Given the description of an element on the screen output the (x, y) to click on. 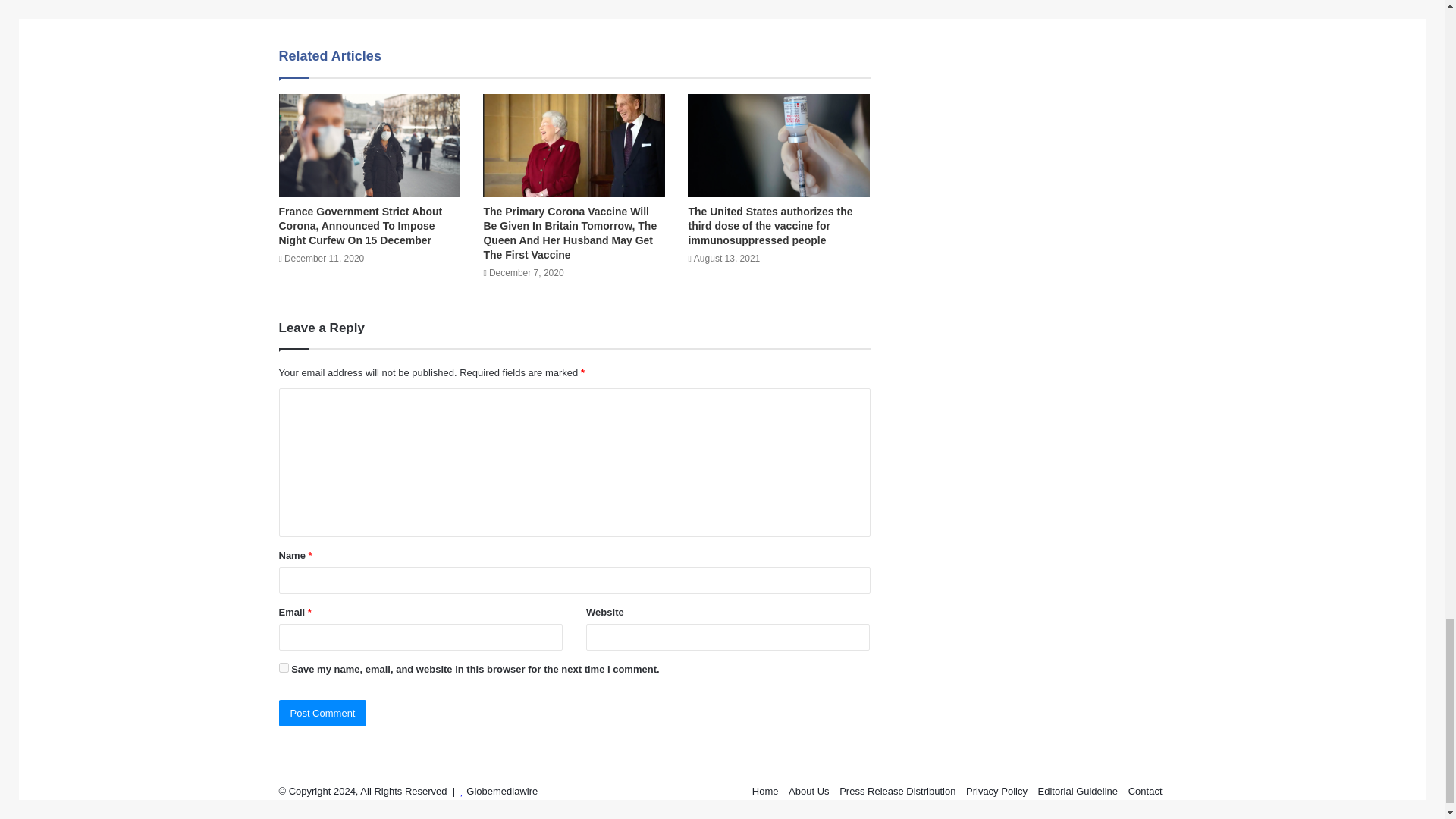
yes (283, 667)
Website (386, 4)
Post Comment (322, 713)
